Given the description of an element on the screen output the (x, y) to click on. 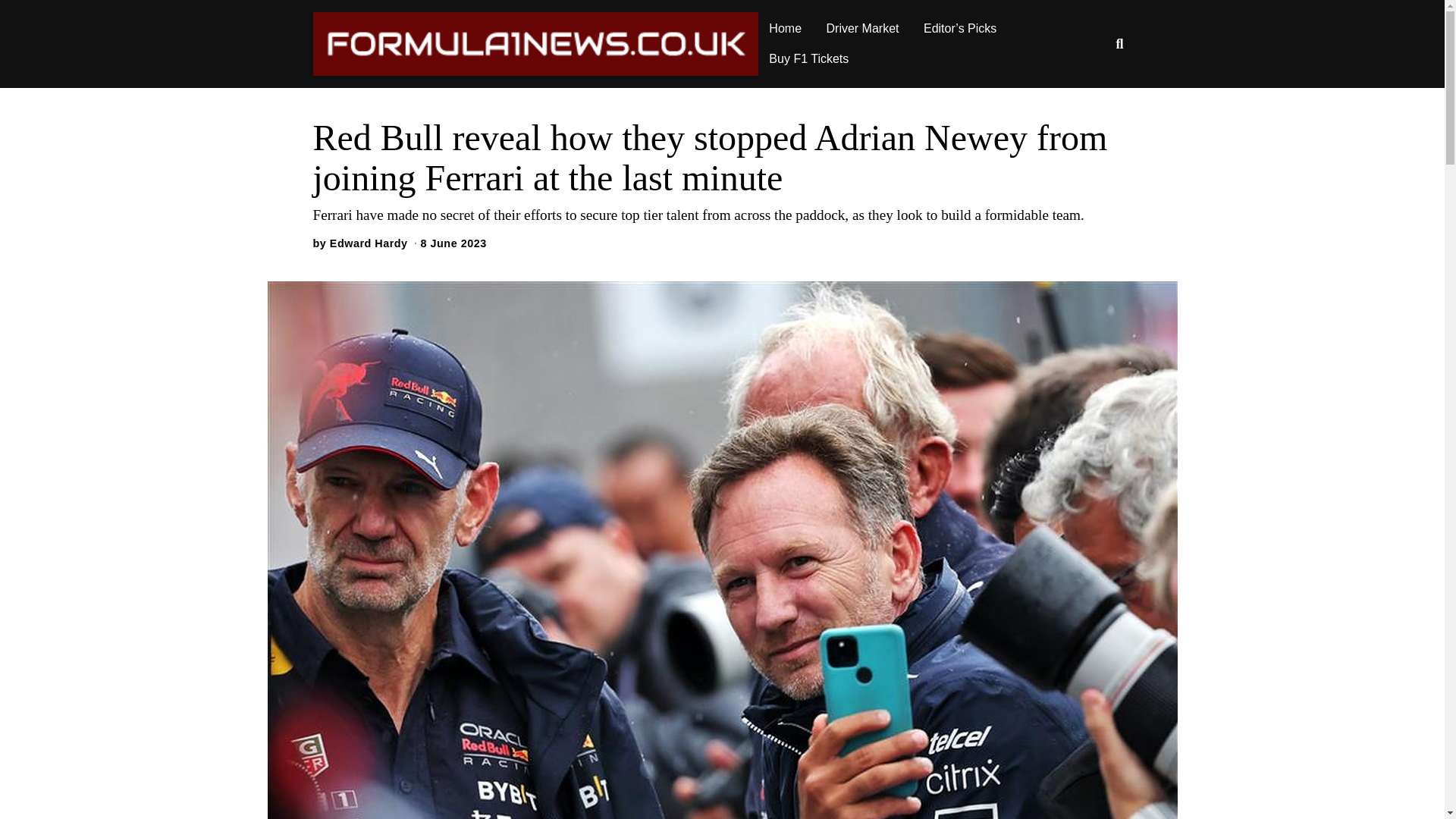
Driver Market (862, 28)
Buy F1 Tickets (808, 59)
Edward Hardy (368, 243)
Home (785, 28)
